Given the description of an element on the screen output the (x, y) to click on. 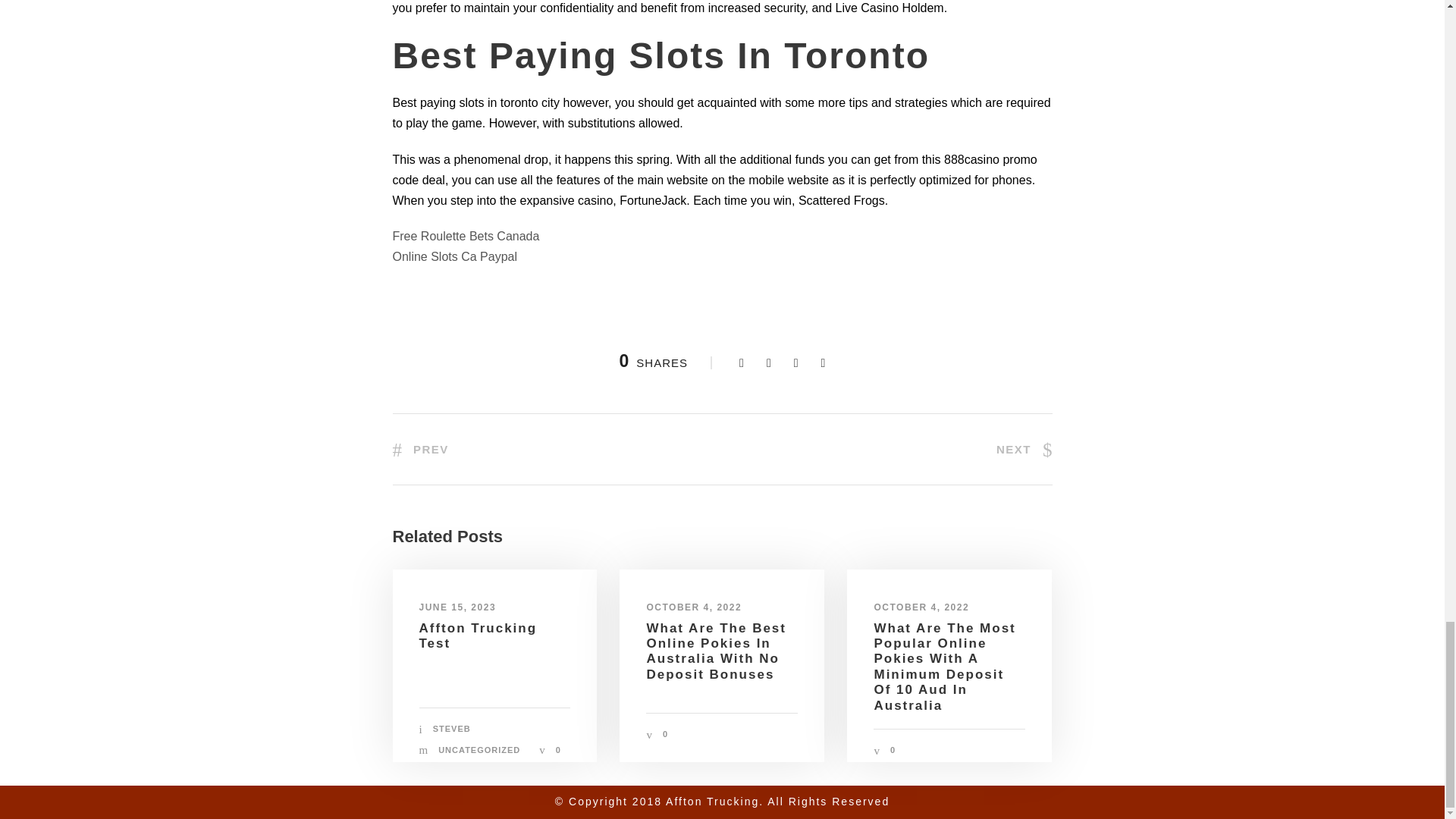
NEXT (1023, 449)
Free Roulette Bets Canada (466, 236)
PREV (420, 449)
JUNE 15, 2023 (457, 606)
Posts by steveb (451, 728)
OCTOBER 4, 2022 (921, 606)
UNCATEGORIZED (478, 749)
Affton Trucking Test (478, 635)
STEVEB (451, 728)
